Given the description of an element on the screen output the (x, y) to click on. 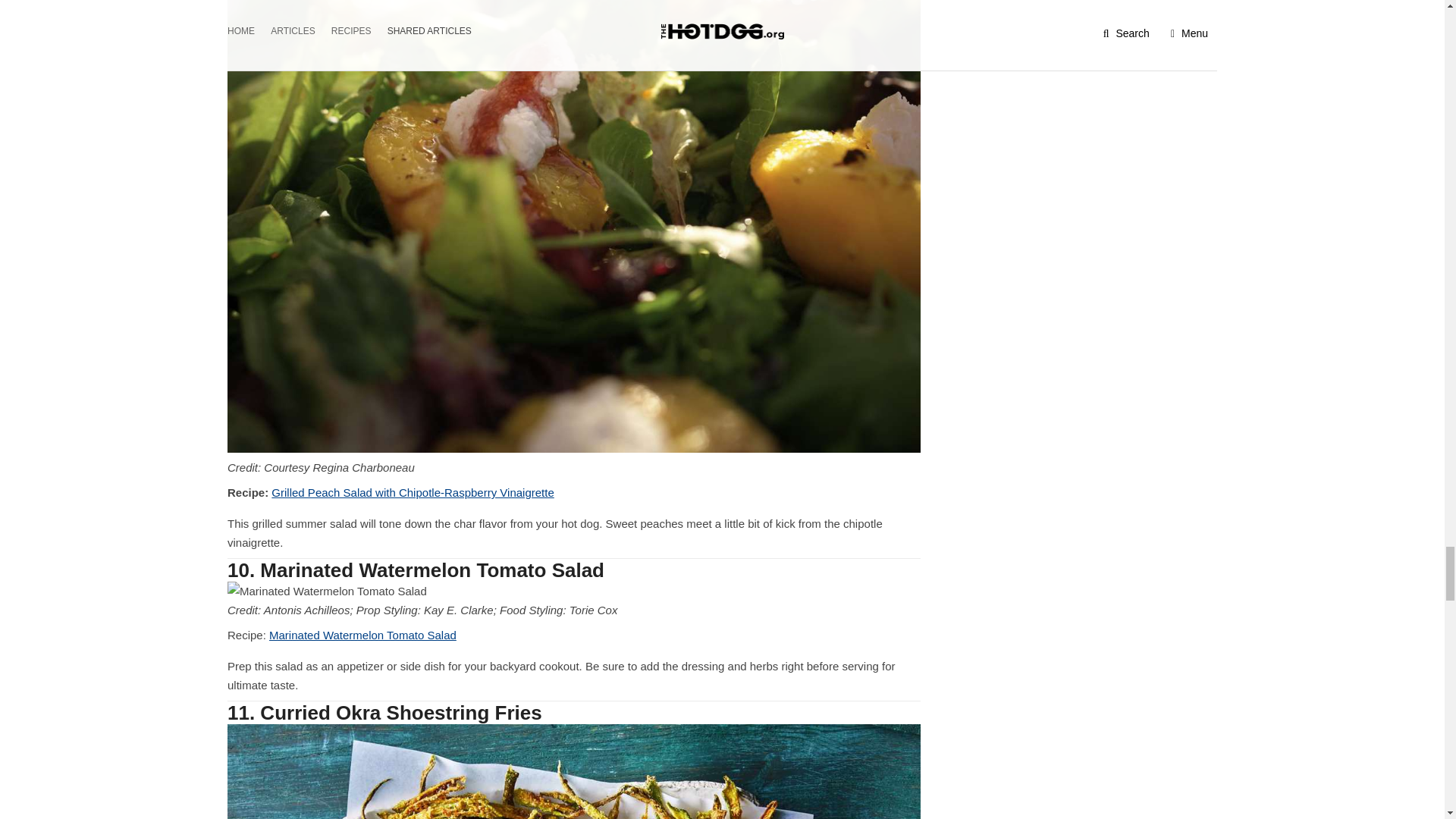
Curried Okra Shoestring Fries (573, 771)
Grilled Peach Salad with Chipotle-Raspberry Vinaigrette (411, 492)
Marinated Watermelon Tomato Salad (363, 634)
Marinated Watermelon and Tomato Salad (326, 591)
